Given the description of an element on the screen output the (x, y) to click on. 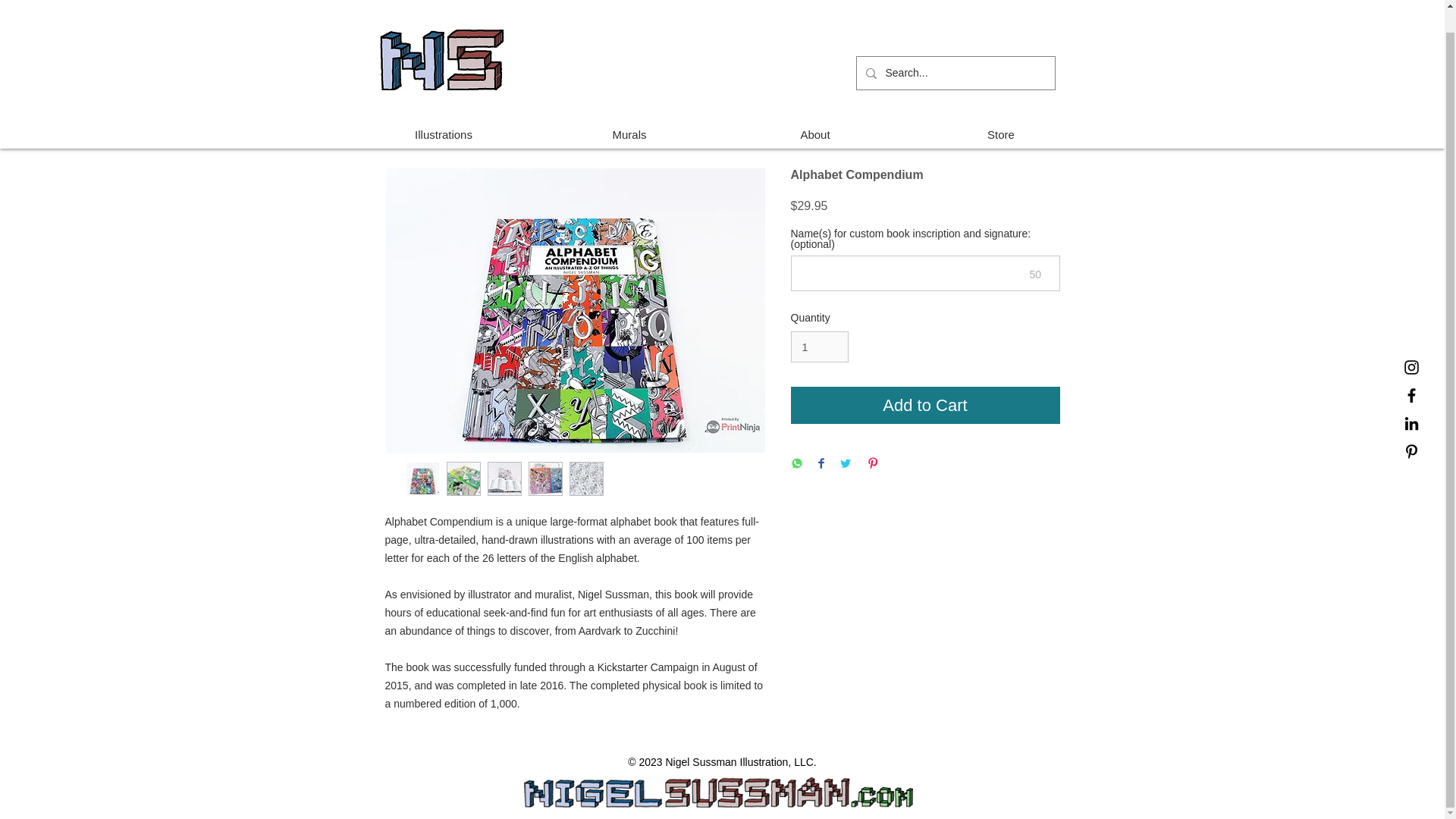
About (814, 134)
Add to Cart (924, 405)
Murals (629, 134)
Store (1001, 134)
1 (818, 346)
Illustrations (442, 134)
